Given the description of an element on the screen output the (x, y) to click on. 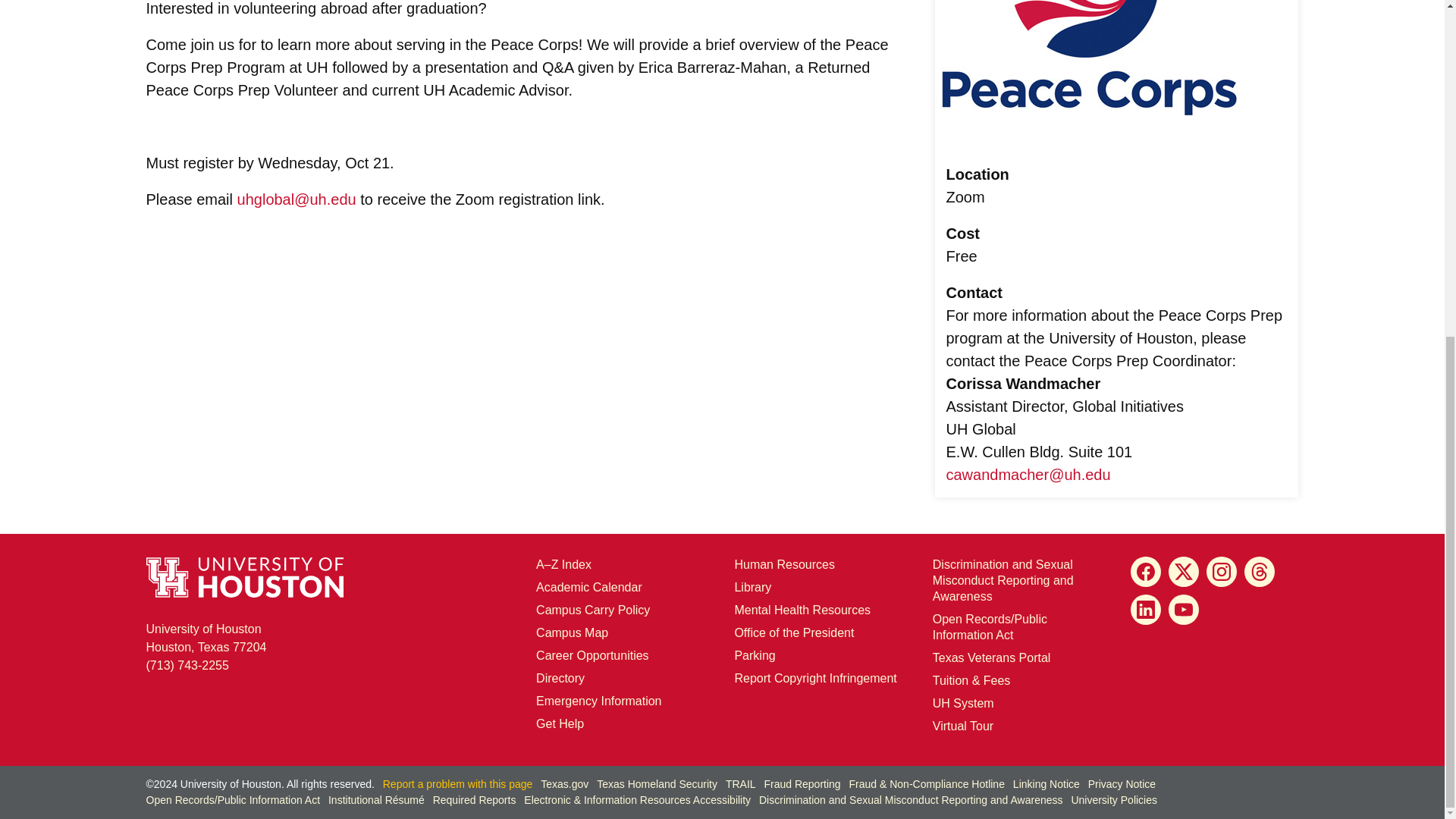
YouTube (1183, 609)
University of Houston (434, 89)
LinkedIn (1145, 609)
University of Houston (957, 428)
Facebook (1145, 571)
University of Houston (317, 67)
University of Houston (1072, 474)
Instagram (1221, 571)
X (1183, 571)
University of Houston (317, 199)
Threads (1259, 571)
University of Houston (941, 703)
